Given the description of an element on the screen output the (x, y) to click on. 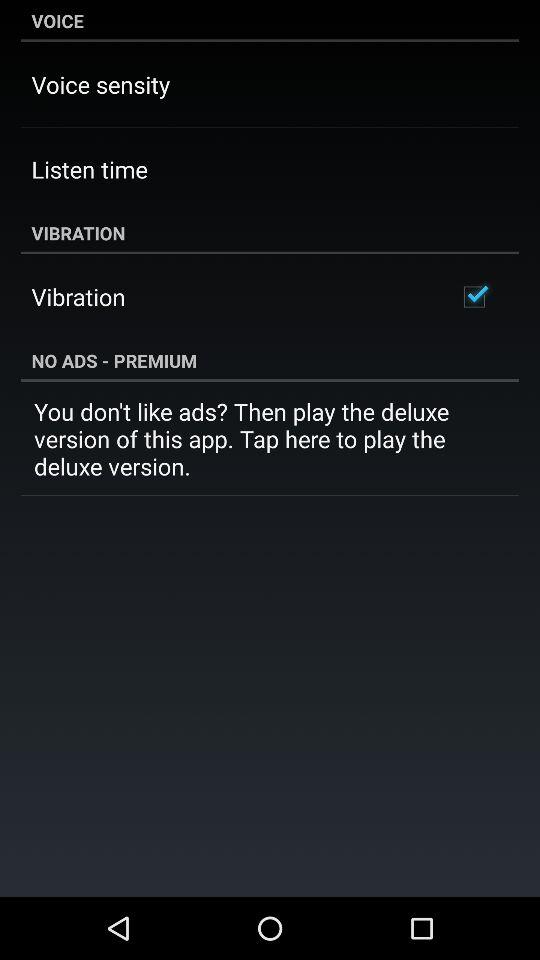
tap app to the right of vibration icon (474, 296)
